Given the description of an element on the screen output the (x, y) to click on. 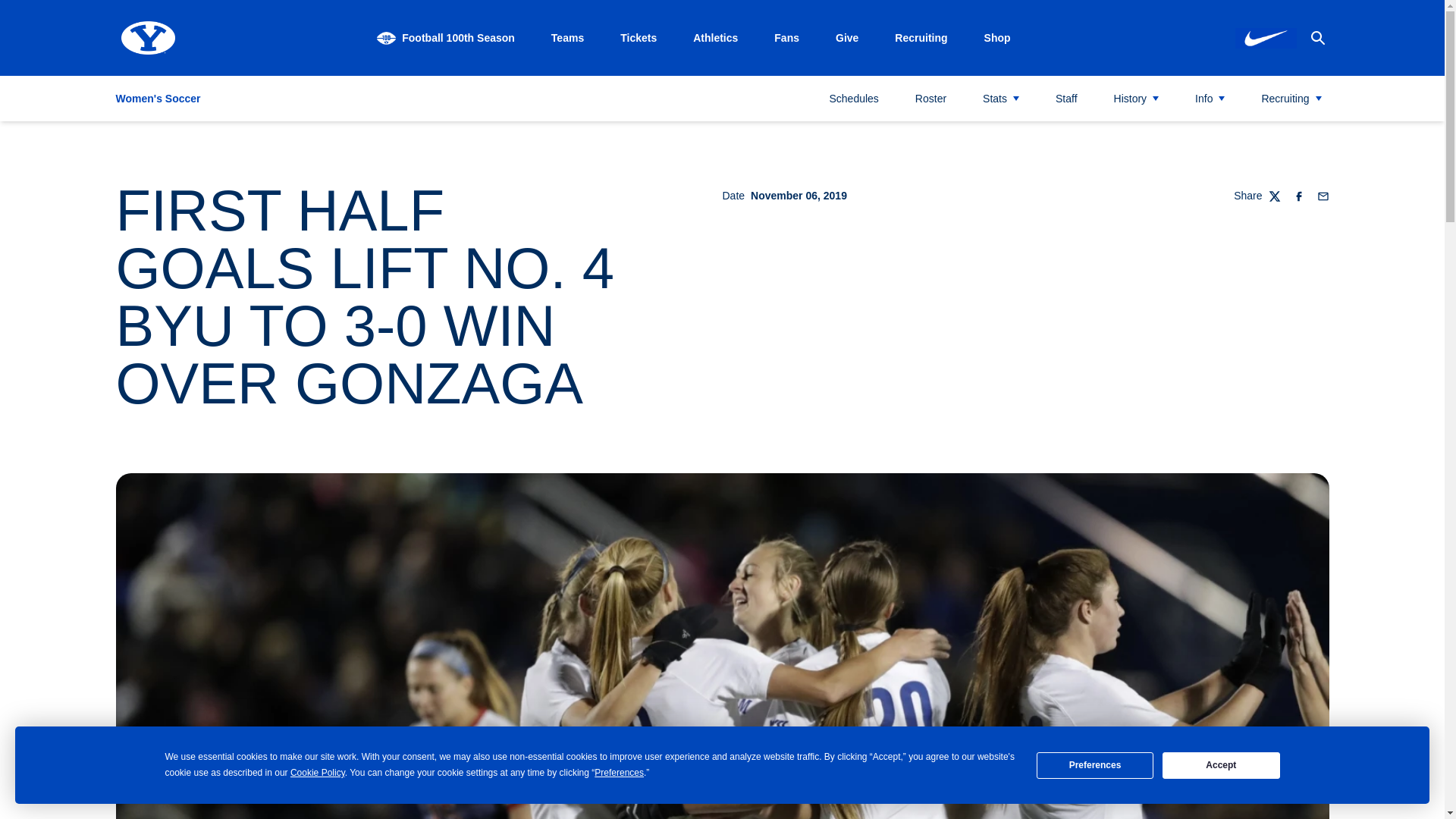
Preferences (1094, 765)
100-logo-y.png (386, 37)
Football 100th Season (446, 37)
Accept (1220, 765)
